Given the description of an element on the screen output the (x, y) to click on. 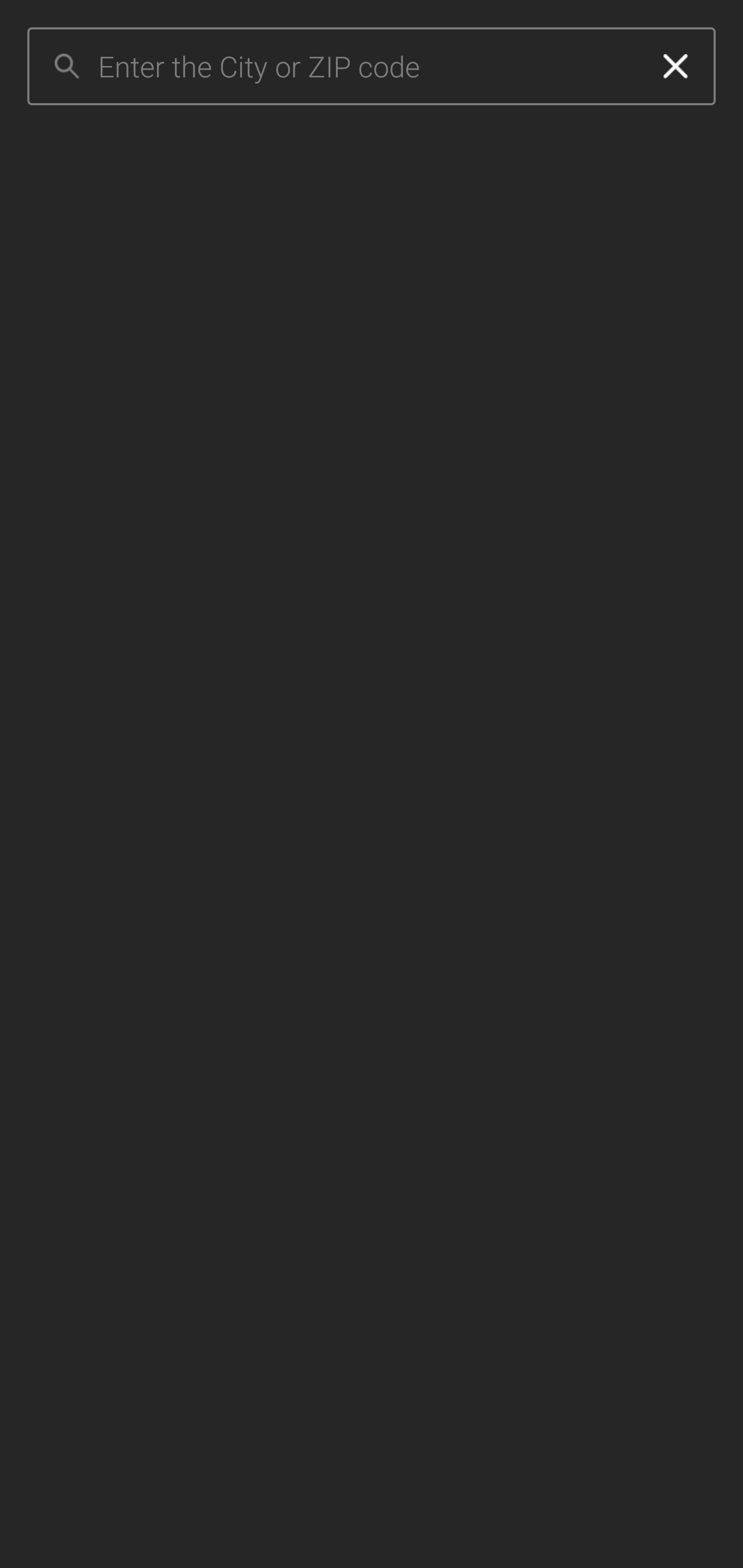
Enter the City or ZIP code (367, 66)
